Given the description of an element on the screen output the (x, y) to click on. 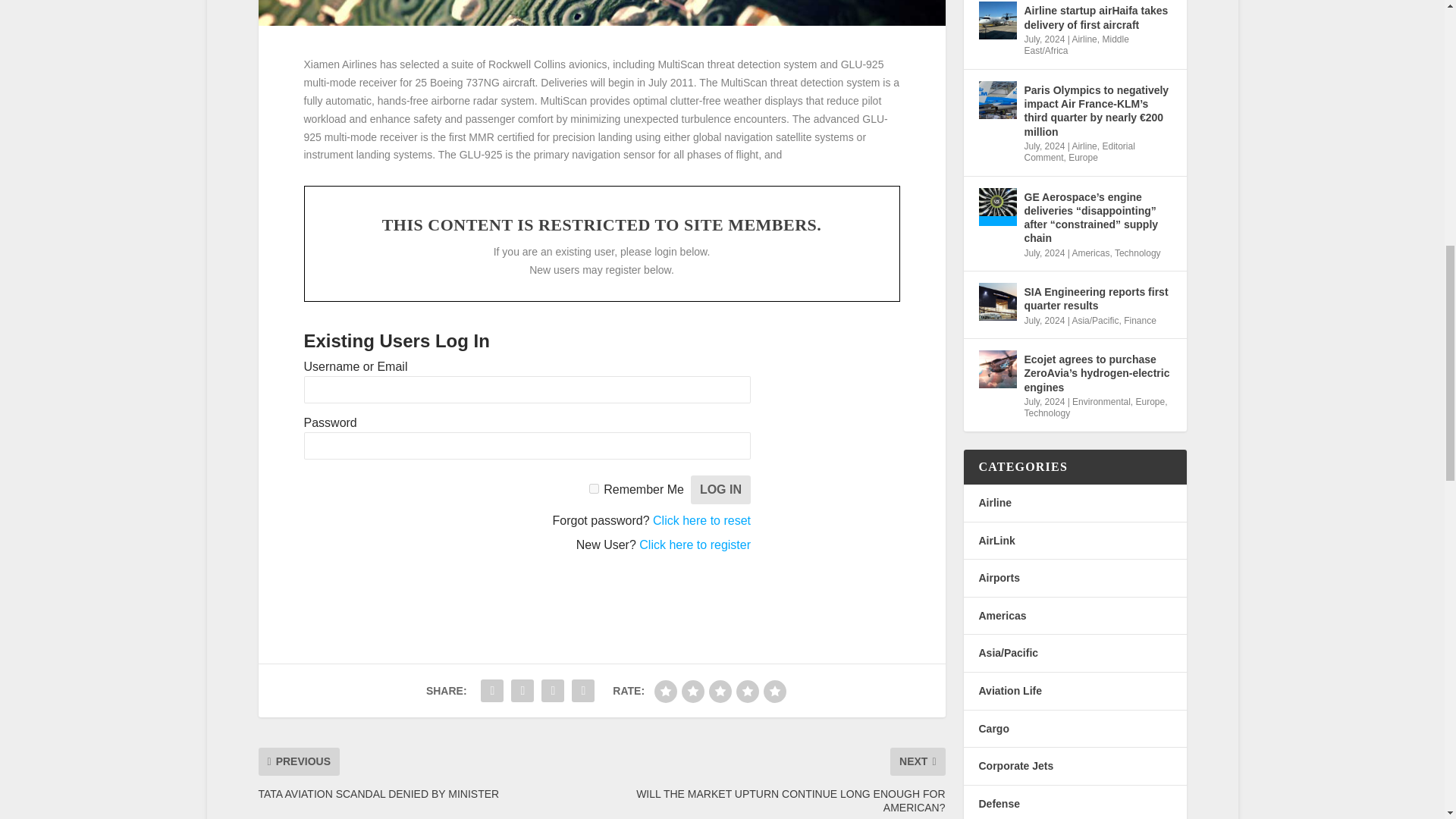
Log In (720, 489)
forever (593, 488)
bad (665, 691)
good (747, 691)
poor (692, 691)
gorgeous (774, 691)
regular (720, 691)
